Given the description of an element on the screen output the (x, y) to click on. 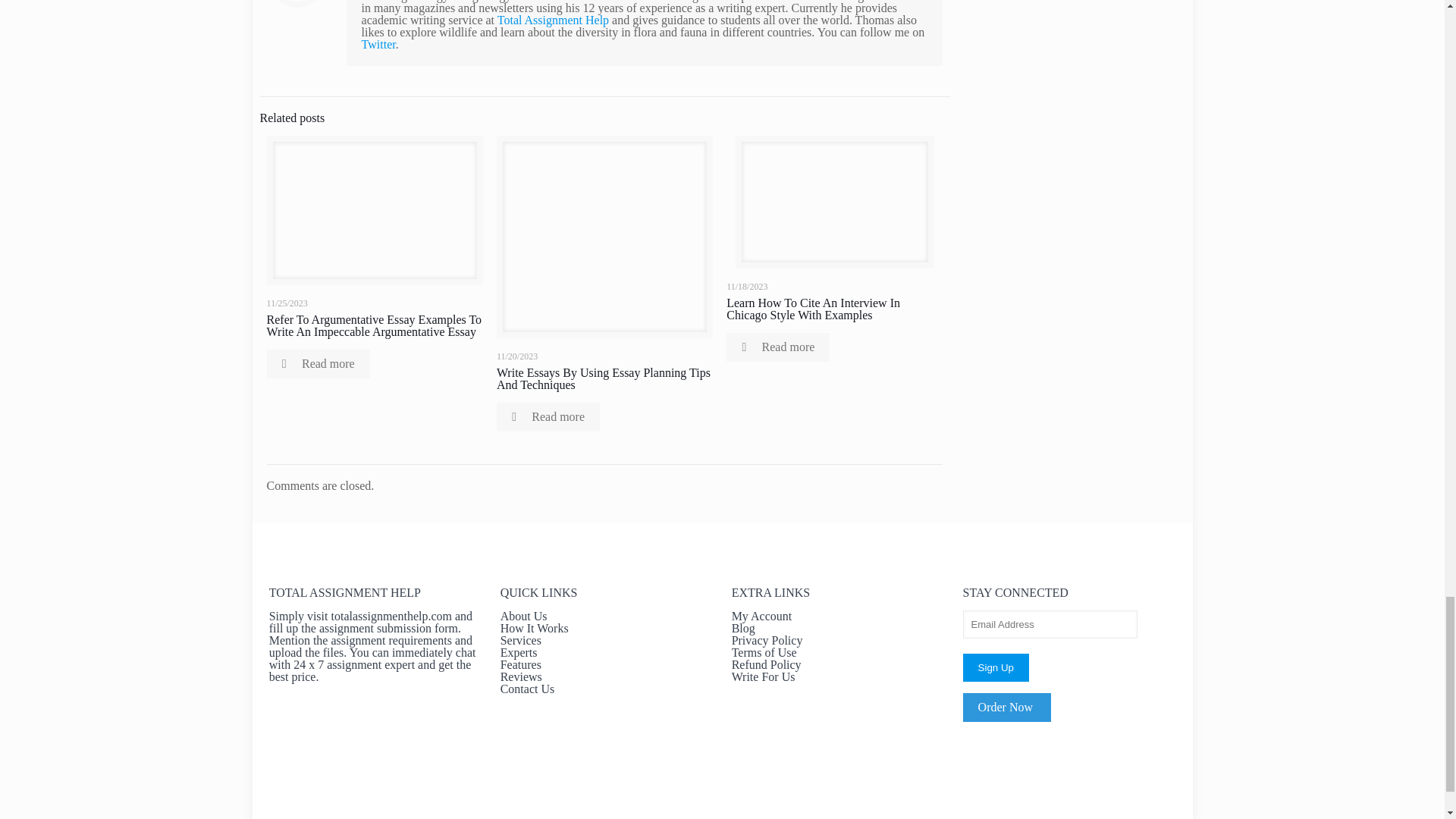
Read more (547, 416)
Twitter (378, 43)
Read more (777, 346)
Total Assignment Help (552, 19)
Write Essays By Using Essay Planning Tips And Techniques (603, 378)
Read more (317, 363)
